Given the description of an element on the screen output the (x, y) to click on. 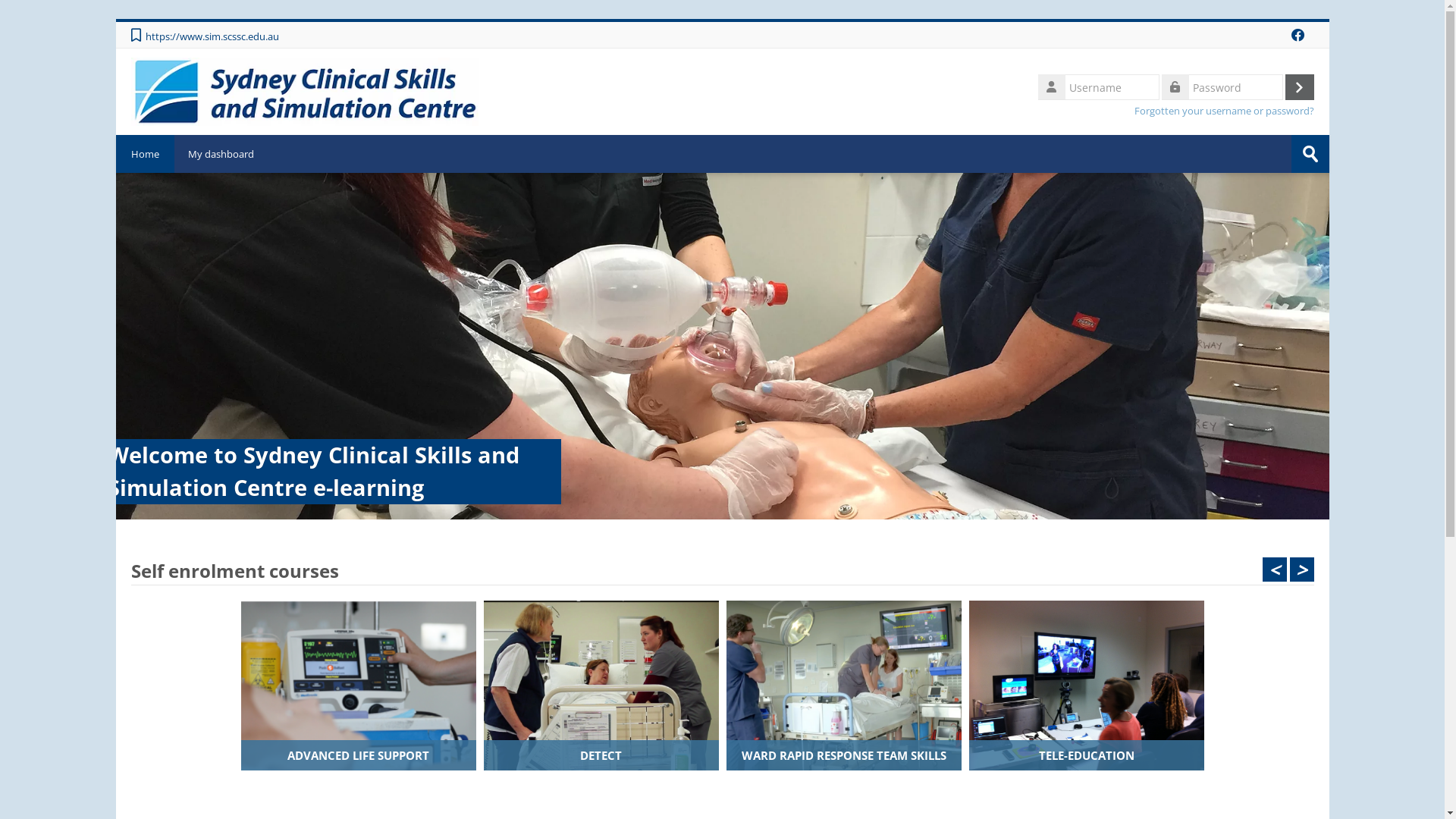
Log in Element type: text (1298, 87)
Forgotten your username or password? Element type: text (1224, 110)
> Element type: text (1301, 569)
My dashboard Element type: text (220, 153)
Submit Element type: text (1309, 153)
Home Element type: hover (303, 90)
https://www.sim.scssc.edu.au Element type: text (217, 36)
Home Element type: text (144, 153)
< Element type: text (1273, 569)
